Given the description of an element on the screen output the (x, y) to click on. 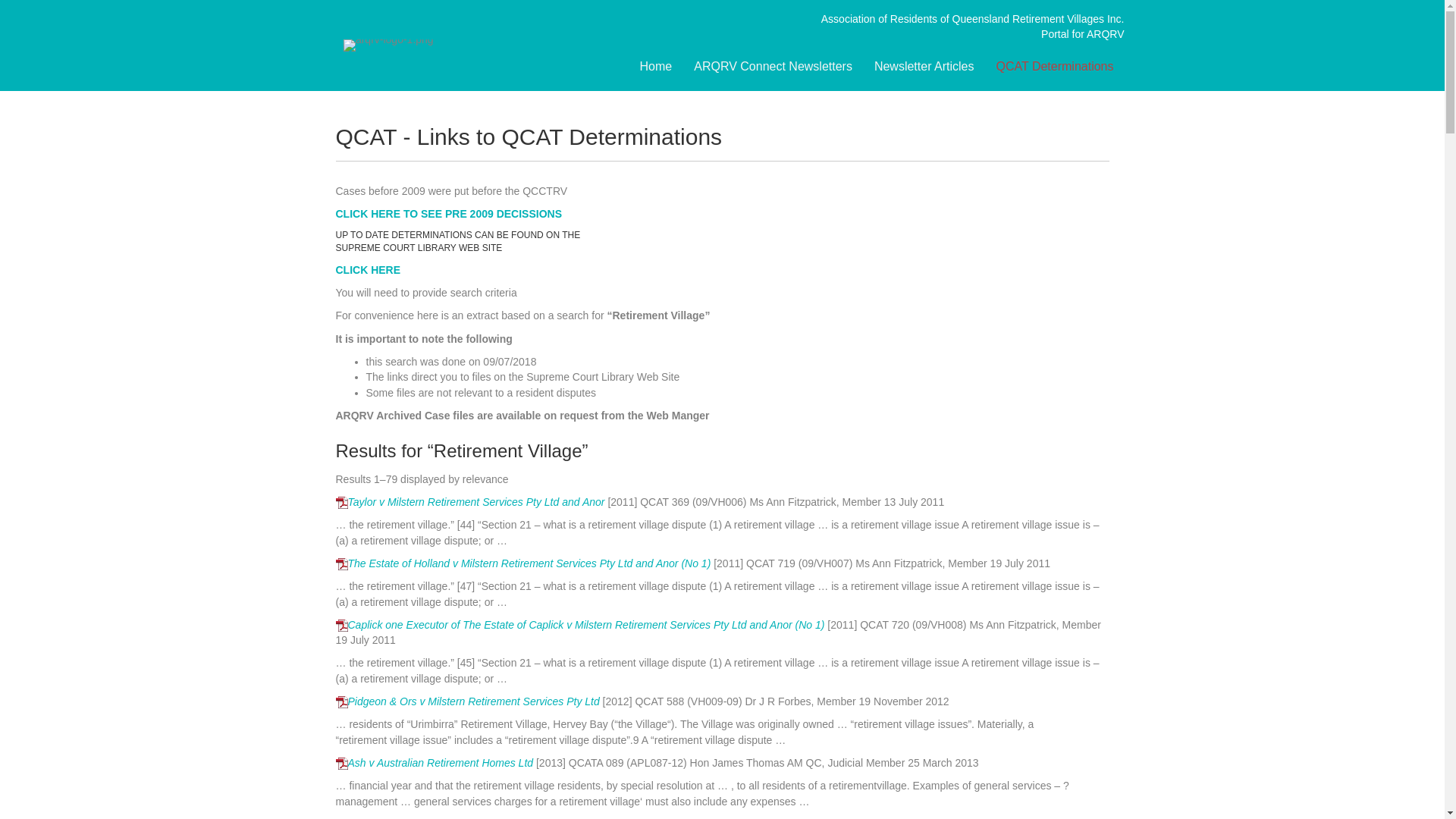
ARQRV Connect Newsletters Element type: text (772, 66)
Pidgeon & Ors v Milstern Retirement Services Pty Ltd Element type: text (473, 701)
Home Element type: text (656, 66)
Taylor v Milstern Retirement Services Pty Ltd and Anor Element type: text (475, 501)
CLICK HERE TO SEE PRE 2009 DECISSIONS Element type: text (448, 213)
QCAT Determinations Element type: text (1054, 66)
arqrv-logo-1.png Element type: hover (388, 45)
Ash v Australian Retirement Homes Ltd Element type: text (440, 762)
CLICK HERE Element type: text (367, 269)
SUPREME COURT LIBRARY WEB SITE Element type: text (418, 247)
Newsletter Articles Element type: text (924, 66)
